Given the description of an element on the screen output the (x, y) to click on. 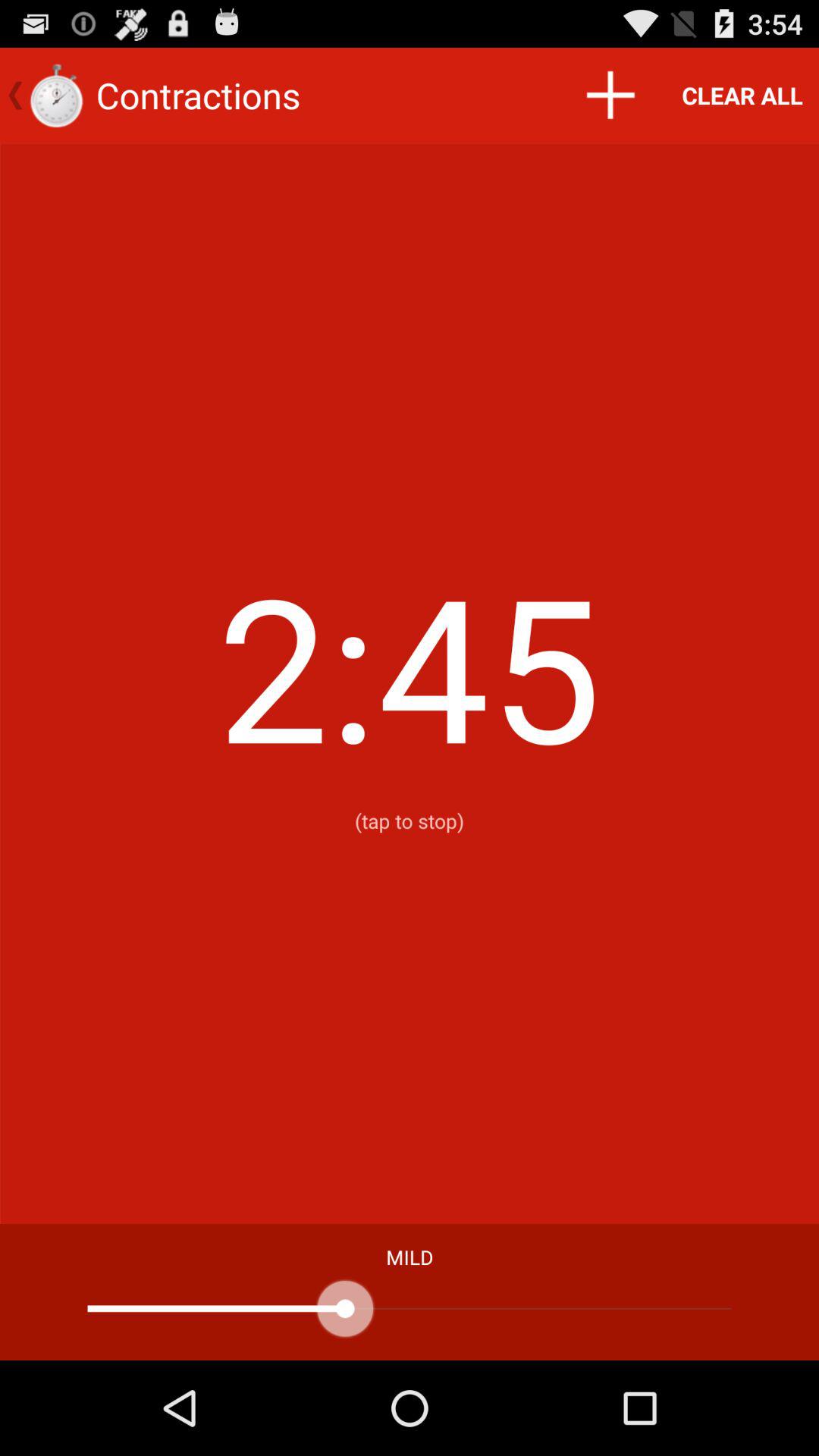
jump to the clear all item (742, 95)
